Given the description of an element on the screen output the (x, y) to click on. 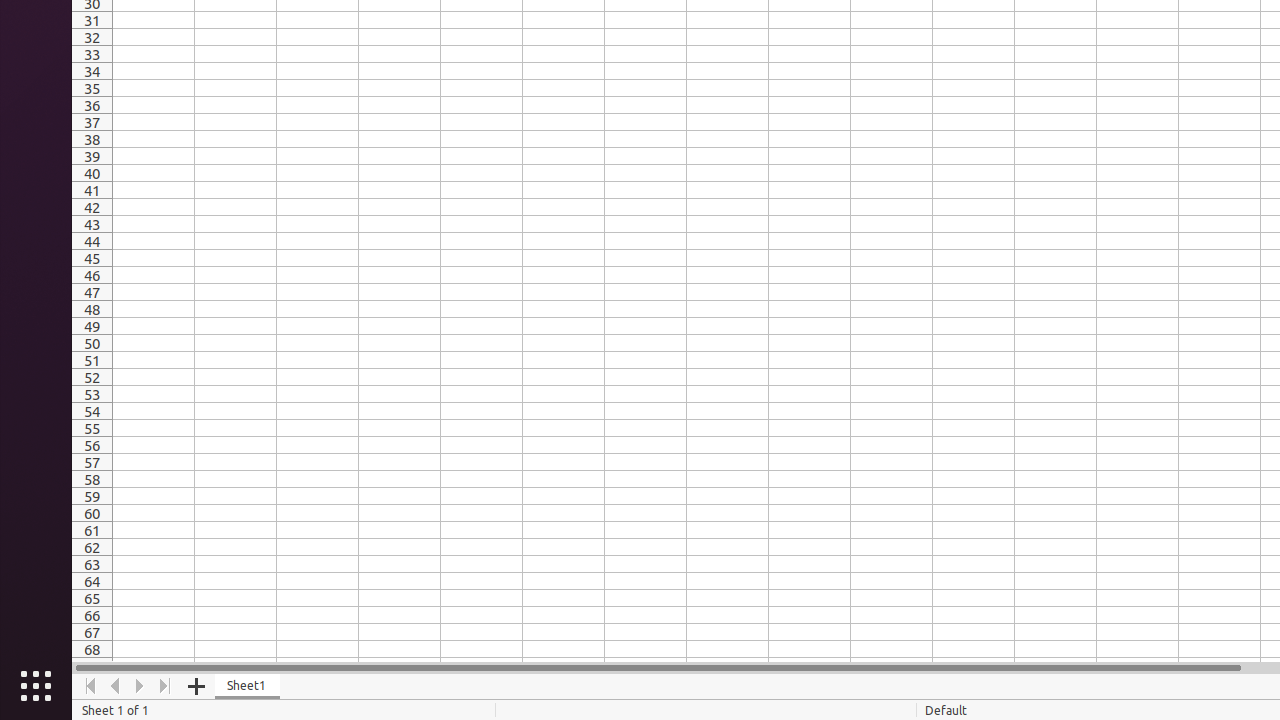
Move Right Element type: push-button (140, 686)
Move To Home Element type: push-button (90, 686)
Move To End Element type: push-button (165, 686)
Move Left Element type: push-button (115, 686)
